Given the description of an element on the screen output the (x, y) to click on. 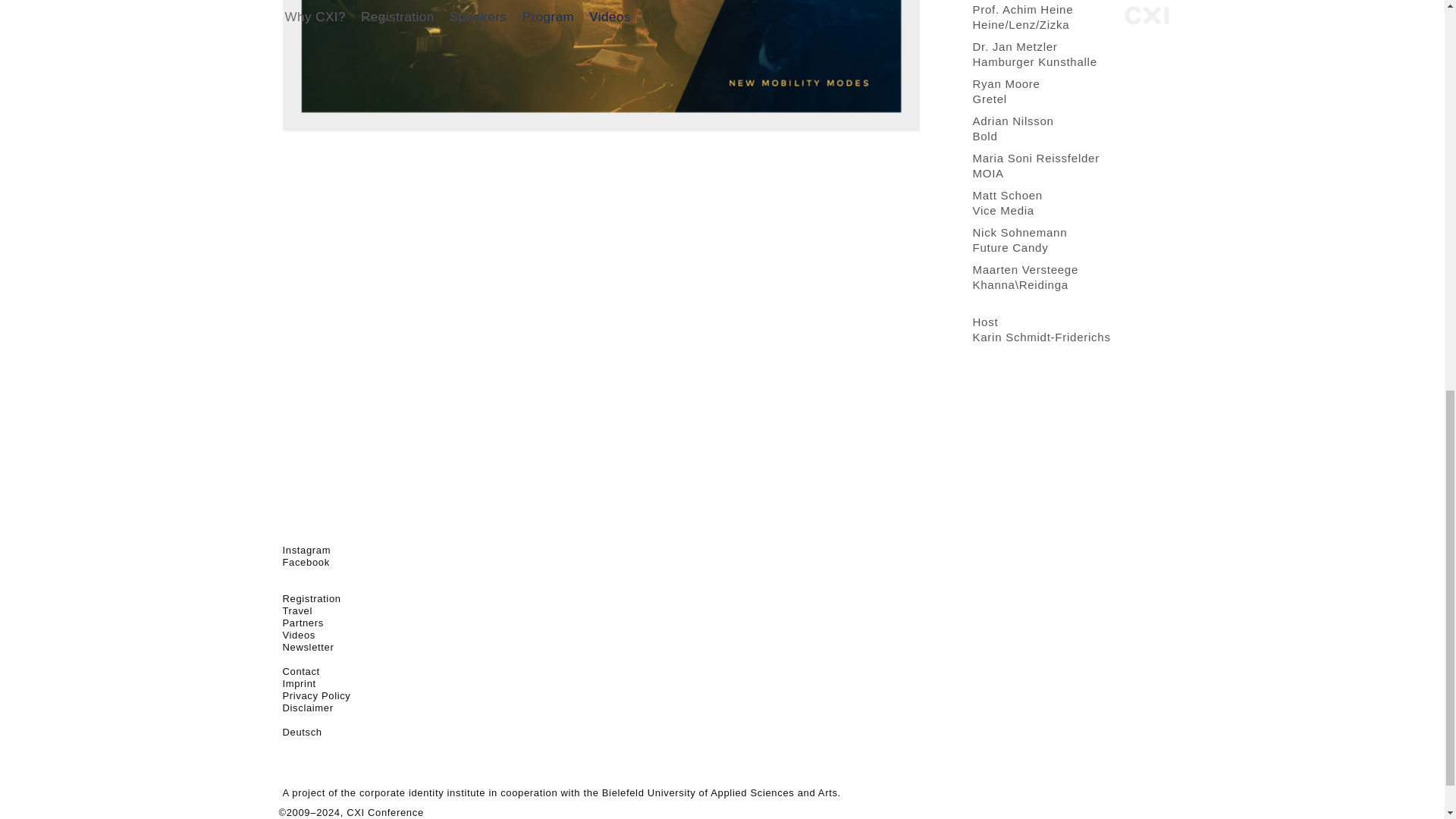
Karin Schmidt-Friderichs (1040, 336)
Facebook (305, 562)
Imprint (298, 683)
Instagram (306, 550)
Disclaimer (307, 707)
Registration (1019, 239)
Videos (311, 598)
Contact (1012, 128)
Travel (298, 634)
Deutsch (300, 671)
Privacy Policy (297, 610)
Partners (1007, 203)
